Given the description of an element on the screen output the (x, y) to click on. 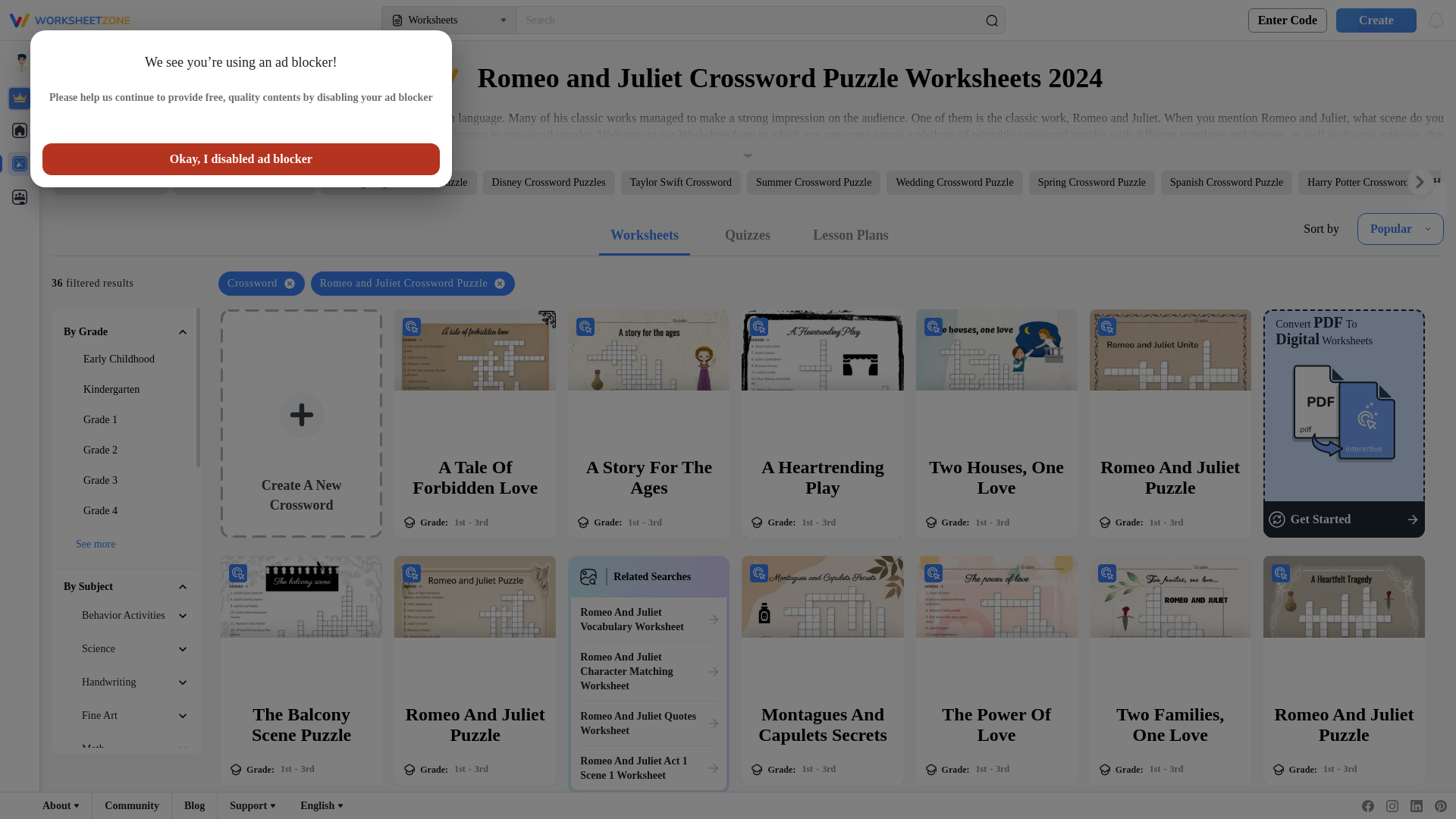
Spring Crossword Puzzle (1091, 182)
Harry Potter Crossword (1358, 182)
Wedding Crossword Puzzle (954, 182)
Enter Code (1286, 19)
Disney Crossword Puzzles (548, 182)
Summer Crossword Puzzle (813, 182)
Christmas Crossword Puzzle (243, 182)
Spanish Crossword Puzzle (1226, 182)
Taylor Swift Crossword (681, 182)
Halloween Crossword (111, 182)
printable crossword puzzles (1038, 133)
Create (1371, 19)
Thanksgiving Crossword Puzzle (398, 182)
